Given the description of an element on the screen output the (x, y) to click on. 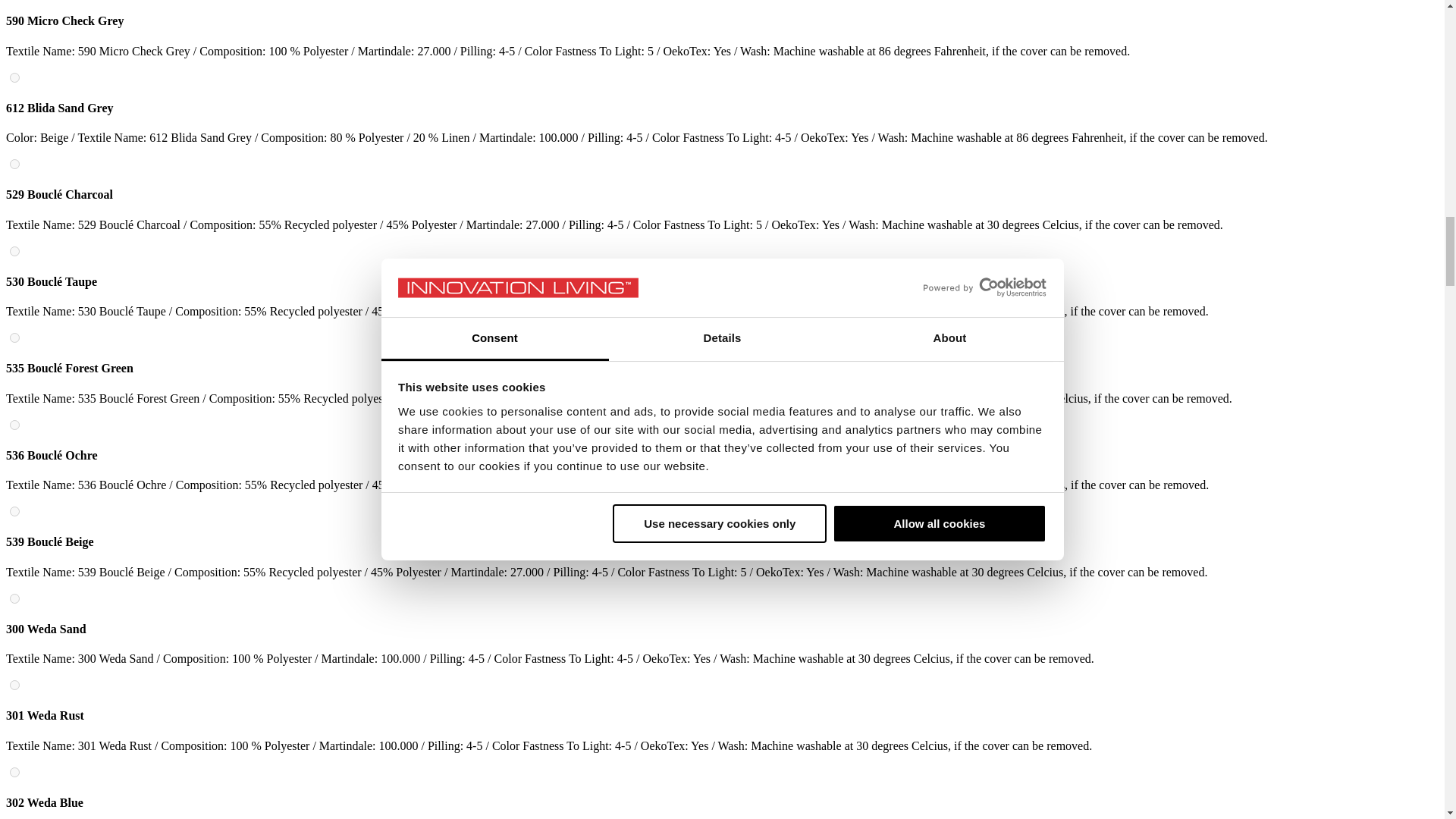
variant-PROD1161 (15, 77)
variant-PROD16196 (15, 424)
variant-PROD16195 (15, 337)
variant-PROD16194 (15, 251)
variant-PROD16198 (15, 511)
variant-PROD16193 (15, 163)
